Given the description of an element on the screen output the (x, y) to click on. 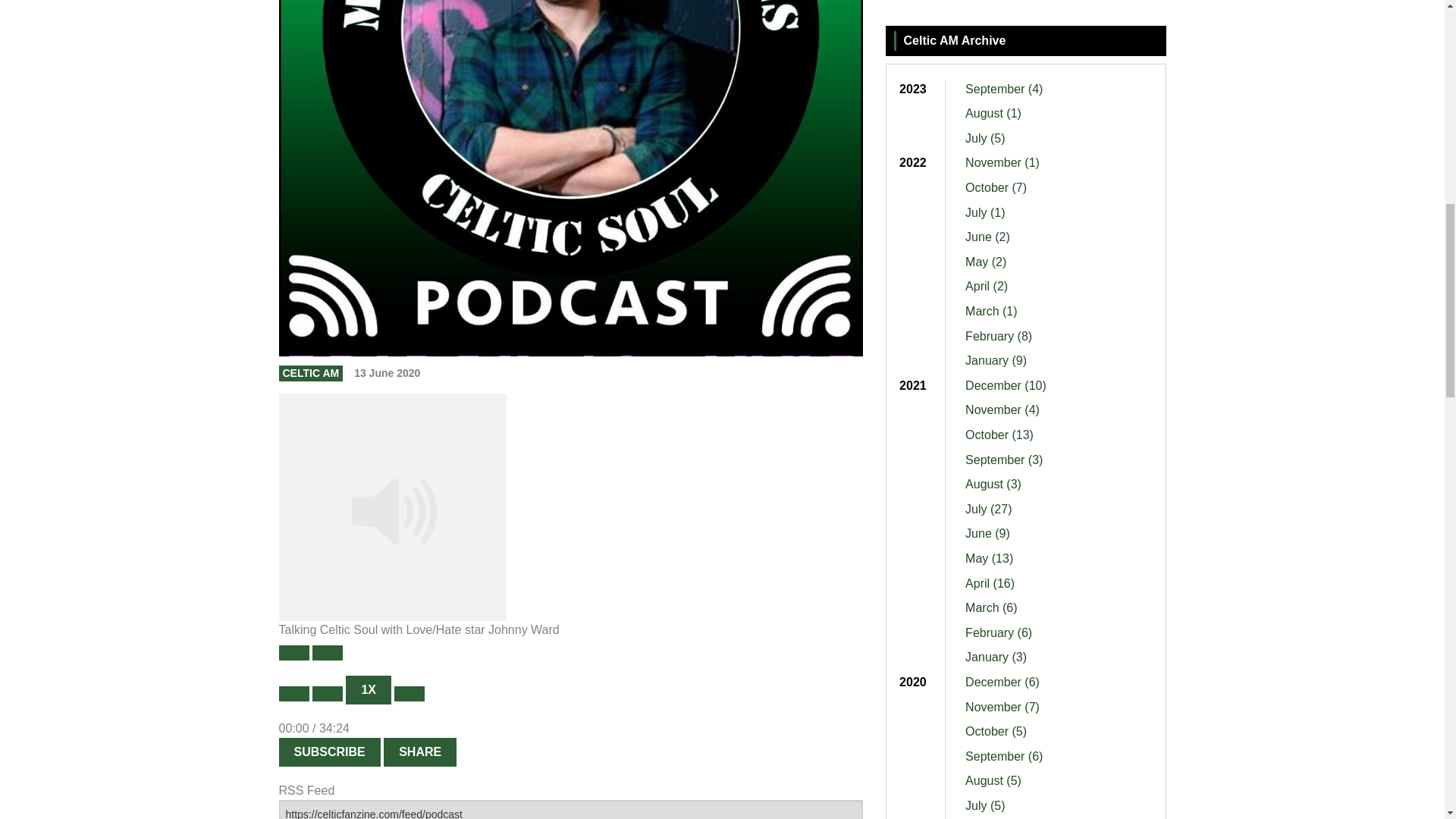
Rewind 10 seconds (327, 693)
Fast Forward 30 seconds (409, 693)
Playback Speed (368, 689)
Subscribe (329, 751)
Play (293, 652)
Pause (327, 652)
Share (420, 751)
